Given the description of an element on the screen output the (x, y) to click on. 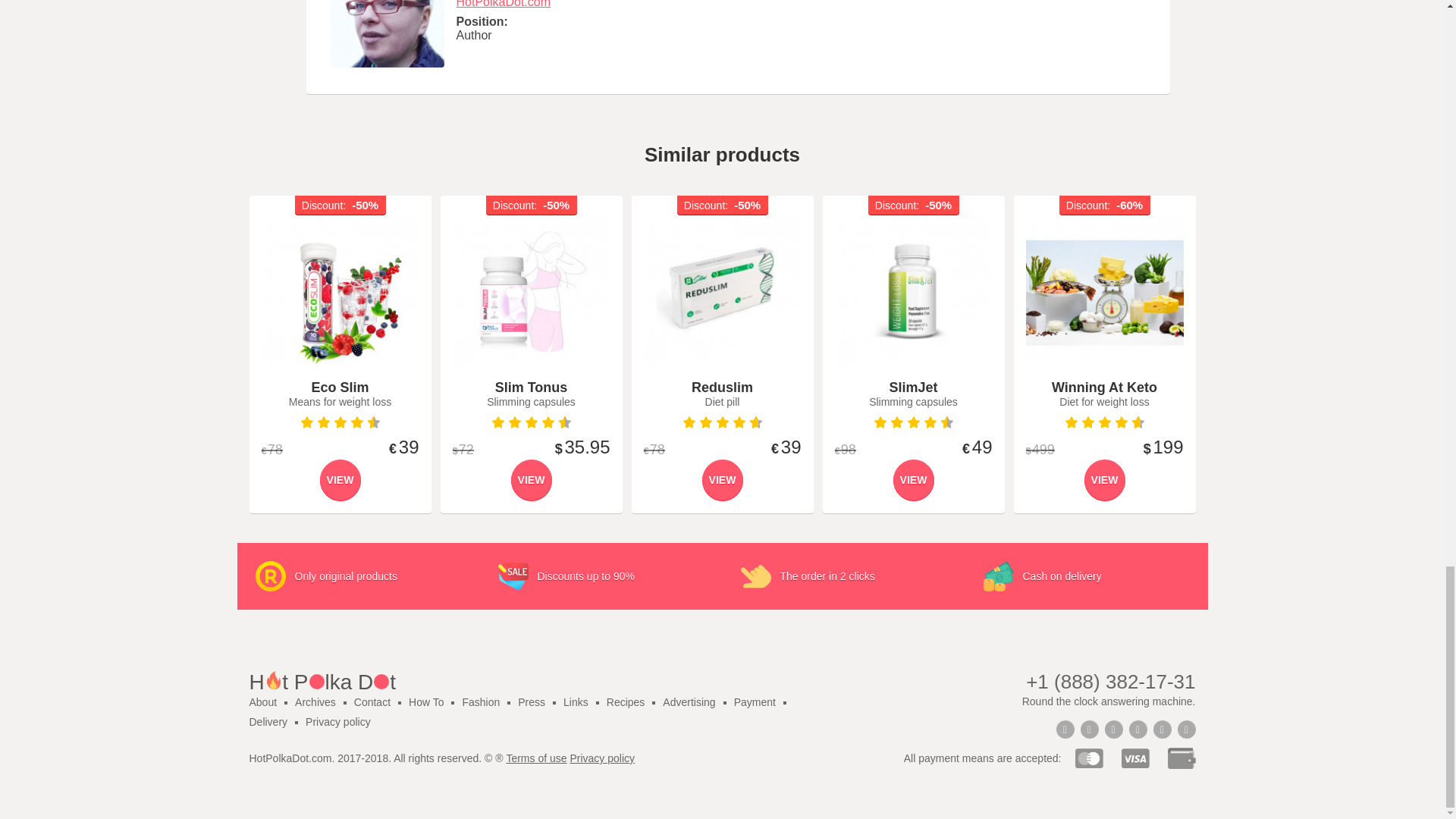
Eco Slim (339, 292)
SlimJet (912, 292)
Slim Tonus (530, 292)
Winning At Keto (1103, 292)
Reduslim (721, 292)
